Given the description of an element on the screen output the (x, y) to click on. 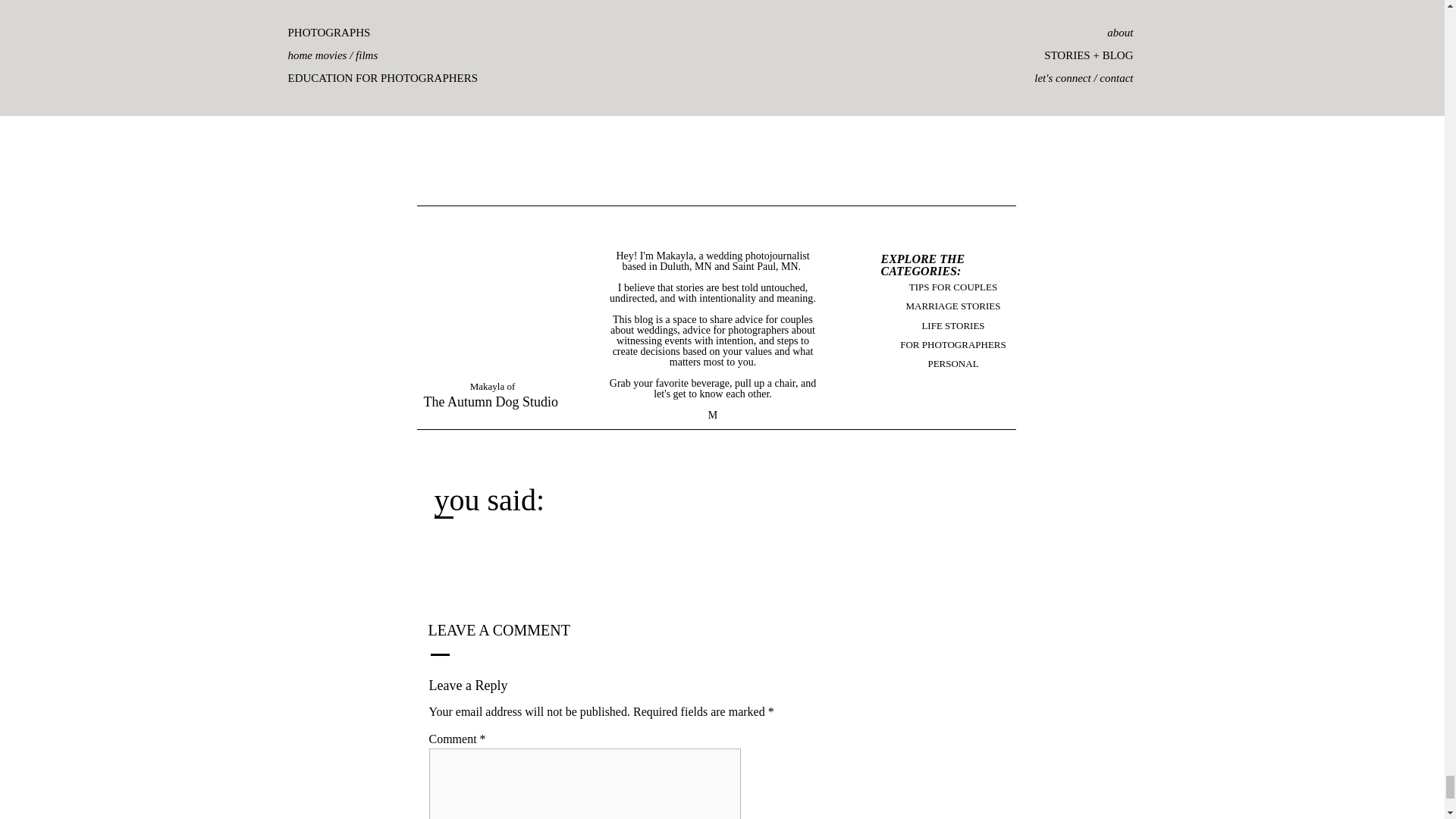
FOR PHOTOGRAPHERS (952, 345)
MARRIAGE STORIES (952, 306)
TIPS FOR COUPLES (952, 287)
PERSONAL (952, 364)
LIFE STORIES (952, 326)
